Given the description of an element on the screen output the (x, y) to click on. 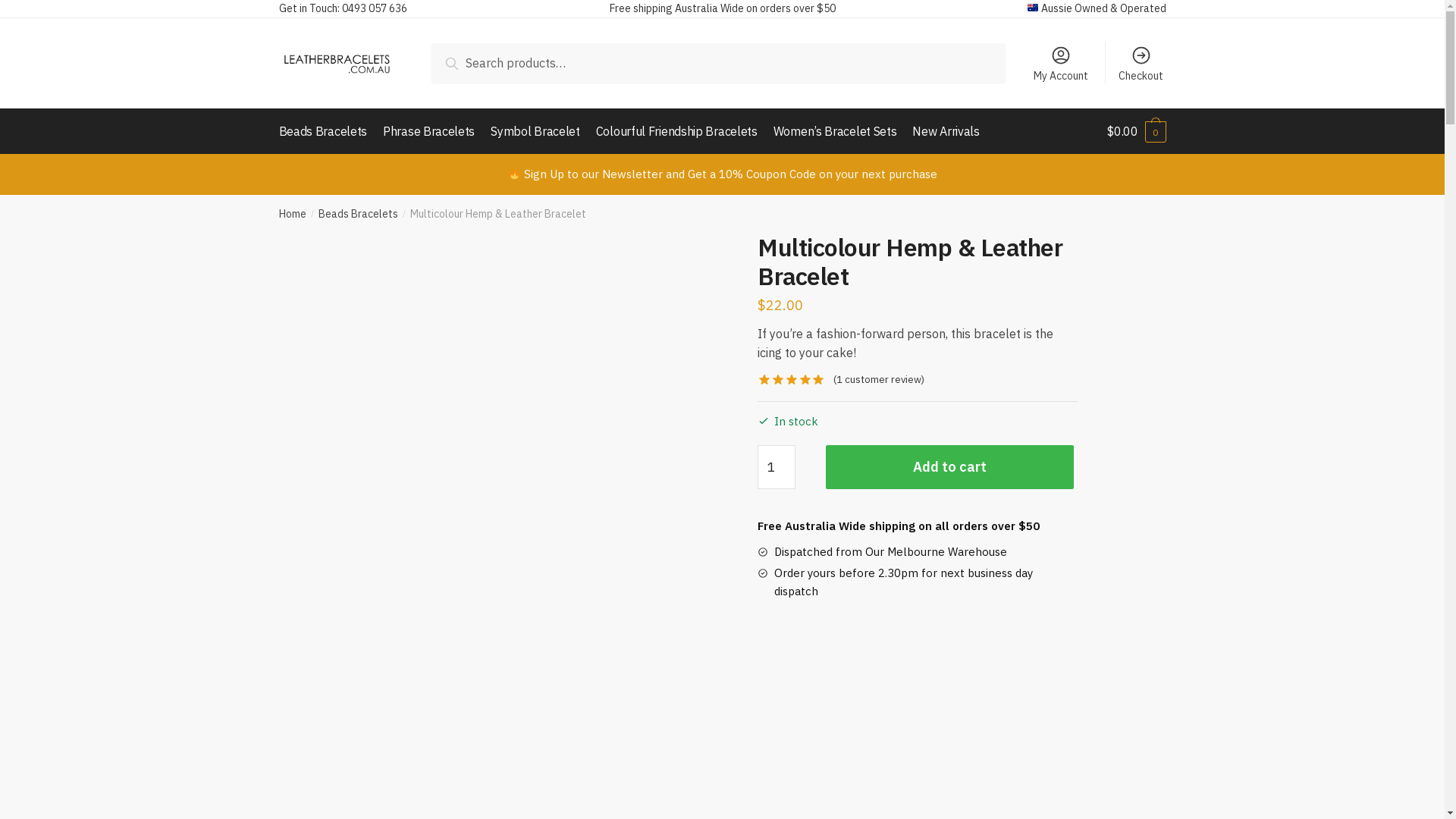
Beads Bracelets Element type: text (326, 130)
Symbol Bracelet Element type: text (535, 130)
Beads Bracelets Element type: text (358, 213)
Colourful Friendship Bracelets Element type: text (676, 130)
New Arrivals Element type: text (945, 130)
Add to cart Element type: text (949, 467)
Home Element type: text (292, 213)
(1 customer review) Element type: text (878, 379)
My Account Element type: text (1060, 62)
0493 057 636 Element type: text (373, 8)
Phrase Bracelets Element type: text (428, 130)
$0.00 0 Element type: text (1136, 130)
Checkout Element type: text (1141, 62)
Search Element type: text (467, 60)
